Given the description of an element on the screen output the (x, y) to click on. 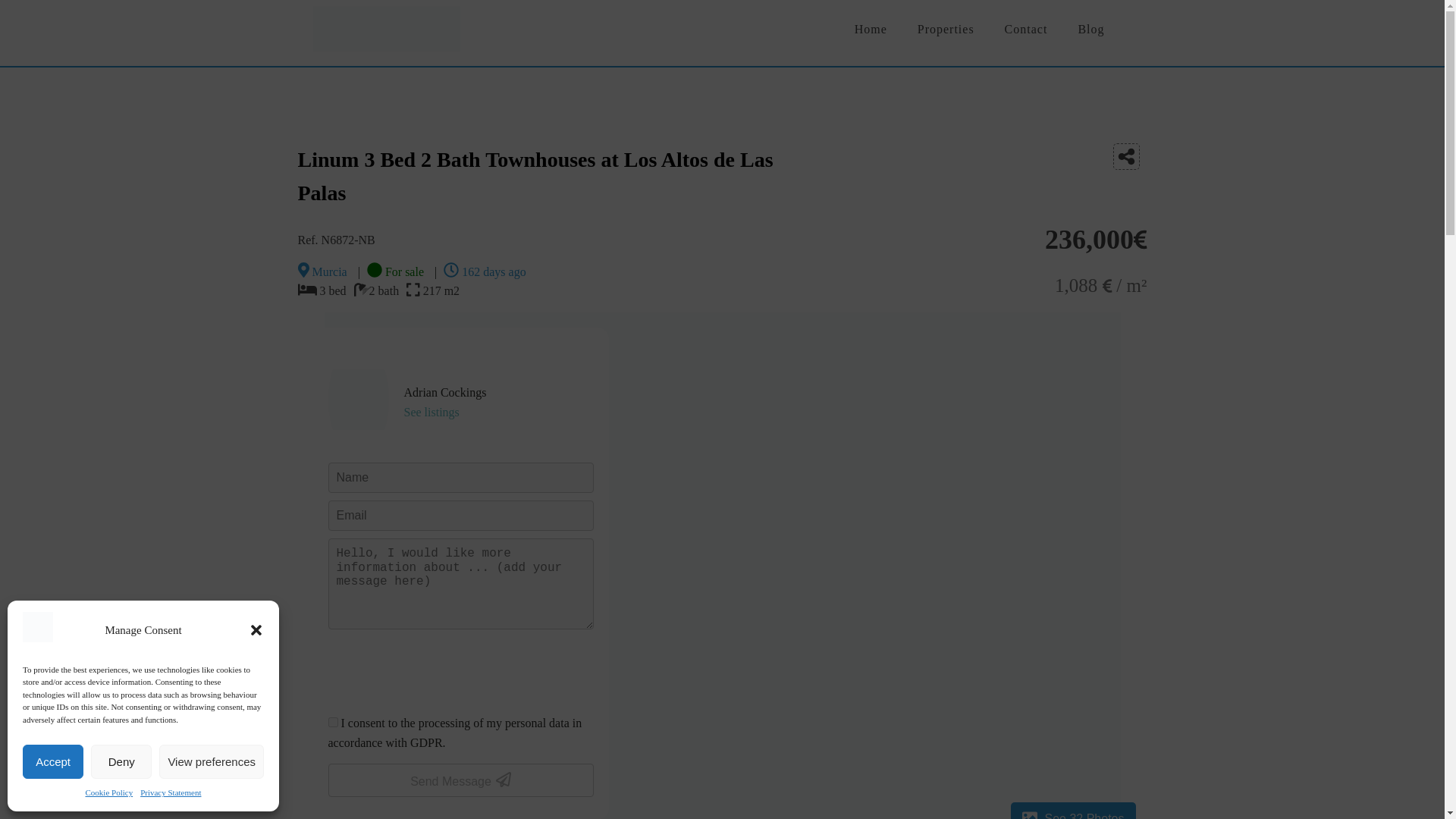
Accept (52, 761)
on (332, 722)
See listings (430, 411)
Contact (1026, 29)
Properties (946, 29)
Send Message (459, 779)
View preferences (210, 761)
Deny (120, 761)
Blog (1090, 29)
See 32 Photos (1072, 810)
